Given the description of an element on the screen output the (x, y) to click on. 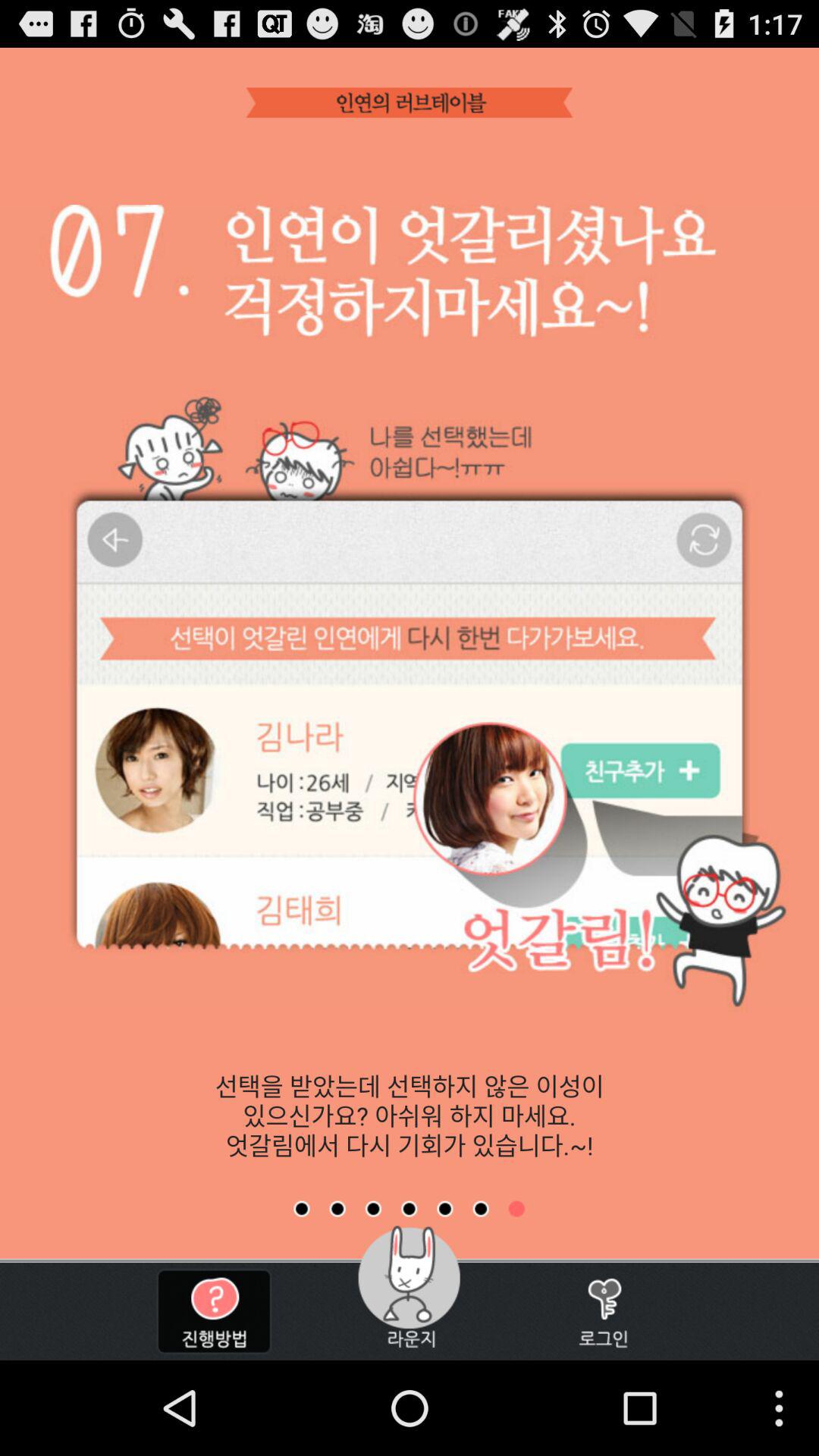
2nd dot for loading (337, 1208)
